Given the description of an element on the screen output the (x, y) to click on. 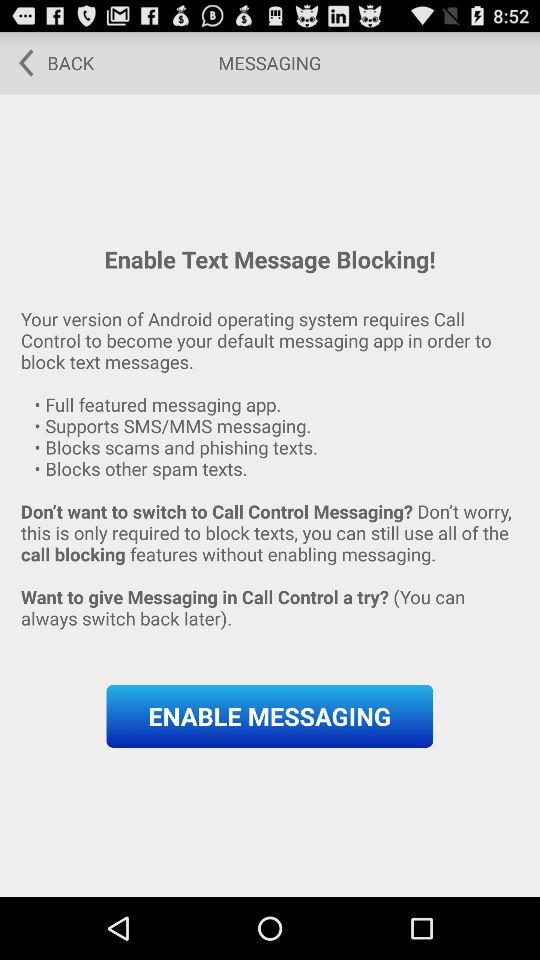
open icon at the top left corner (49, 62)
